Given the description of an element on the screen output the (x, y) to click on. 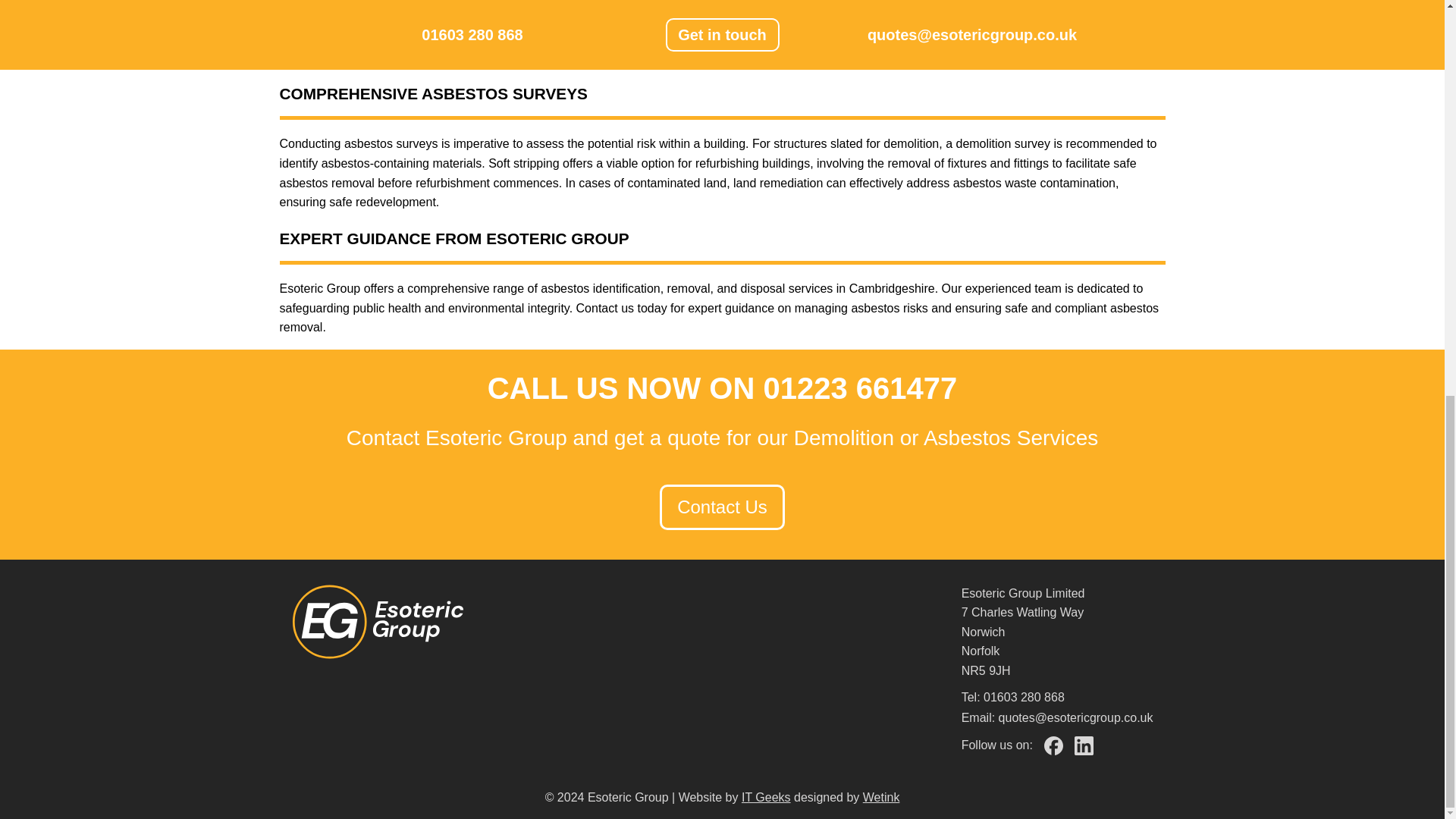
LinkedIn (1083, 745)
Wetink (881, 797)
LinkedIn (1083, 746)
Contact Us (721, 506)
Facebook (1052, 745)
Facebook (1052, 746)
IT Geeks (765, 797)
